Given the description of an element on the screen output the (x, y) to click on. 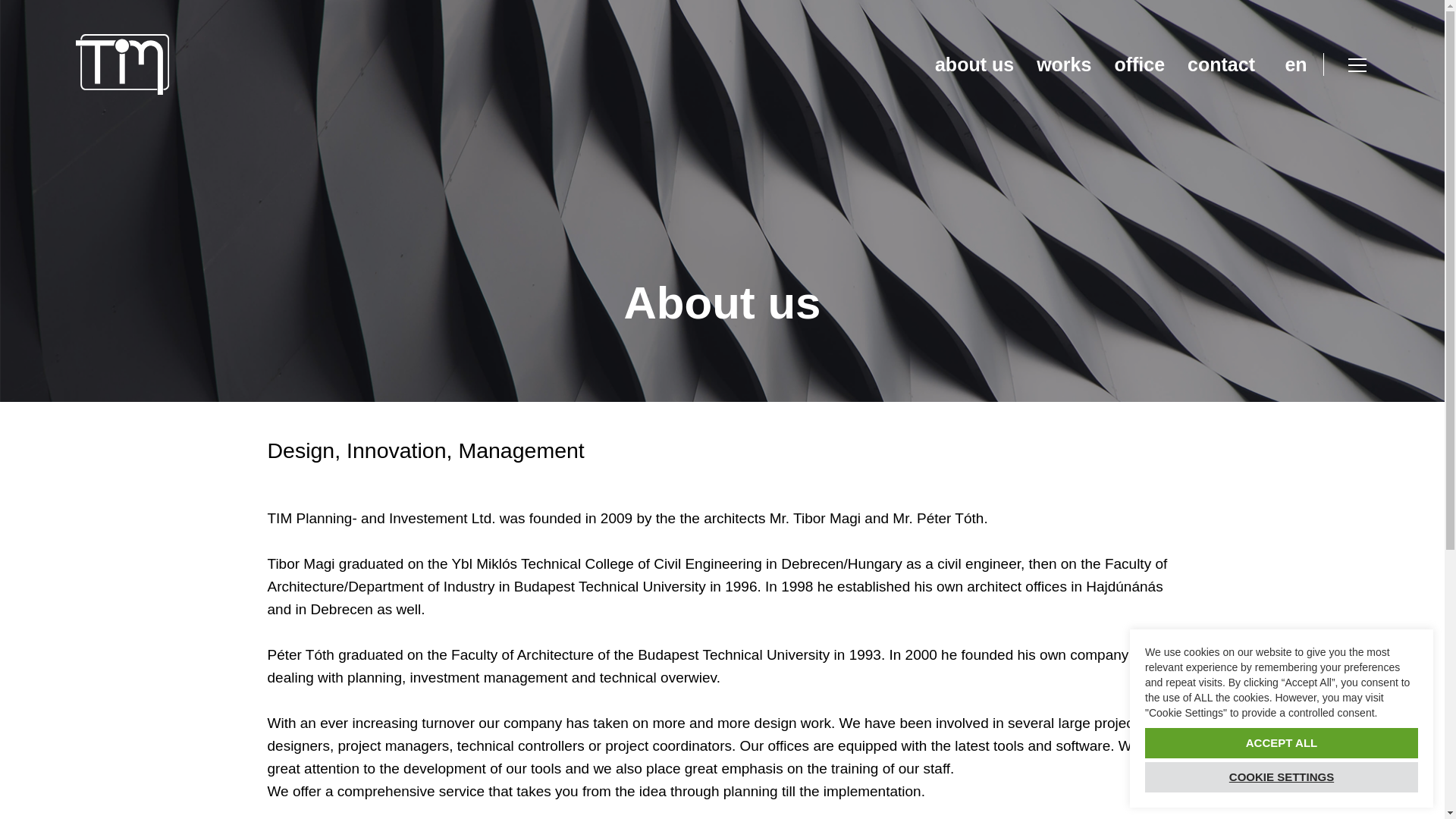
ACCEPT ALL (1281, 743)
about us (973, 64)
COOKIE SETTINGS (1281, 777)
works (1063, 64)
office (1138, 64)
contact (1221, 64)
en (1295, 64)
